Given the description of an element on the screen output the (x, y) to click on. 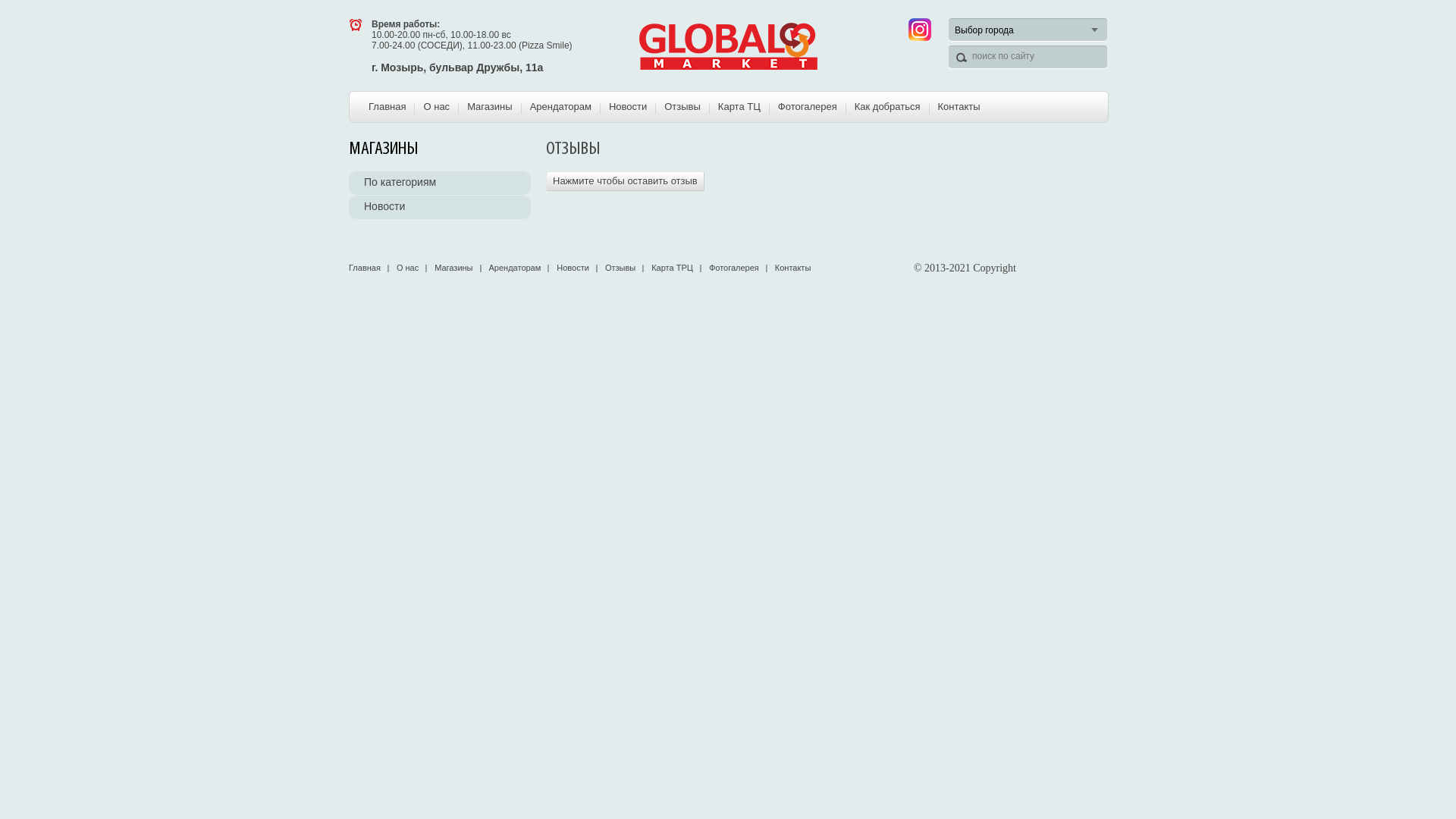
LiveInternet Element type: hover (1095, 267)
